Given the description of an element on the screen output the (x, y) to click on. 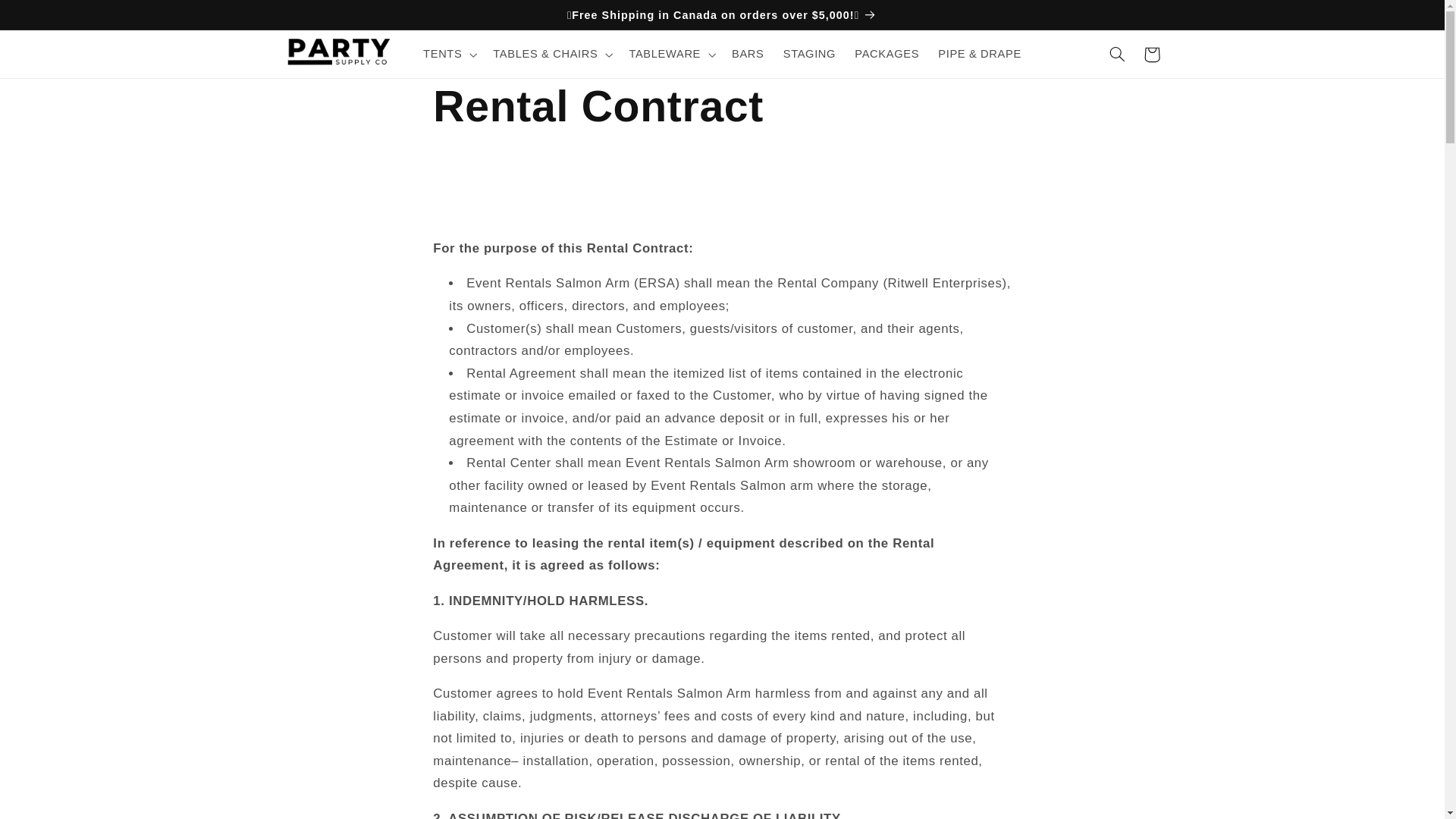
PACKAGES (886, 54)
BARS (747, 54)
Skip to content (48, 18)
STAGING (809, 54)
